Given the description of an element on the screen output the (x, y) to click on. 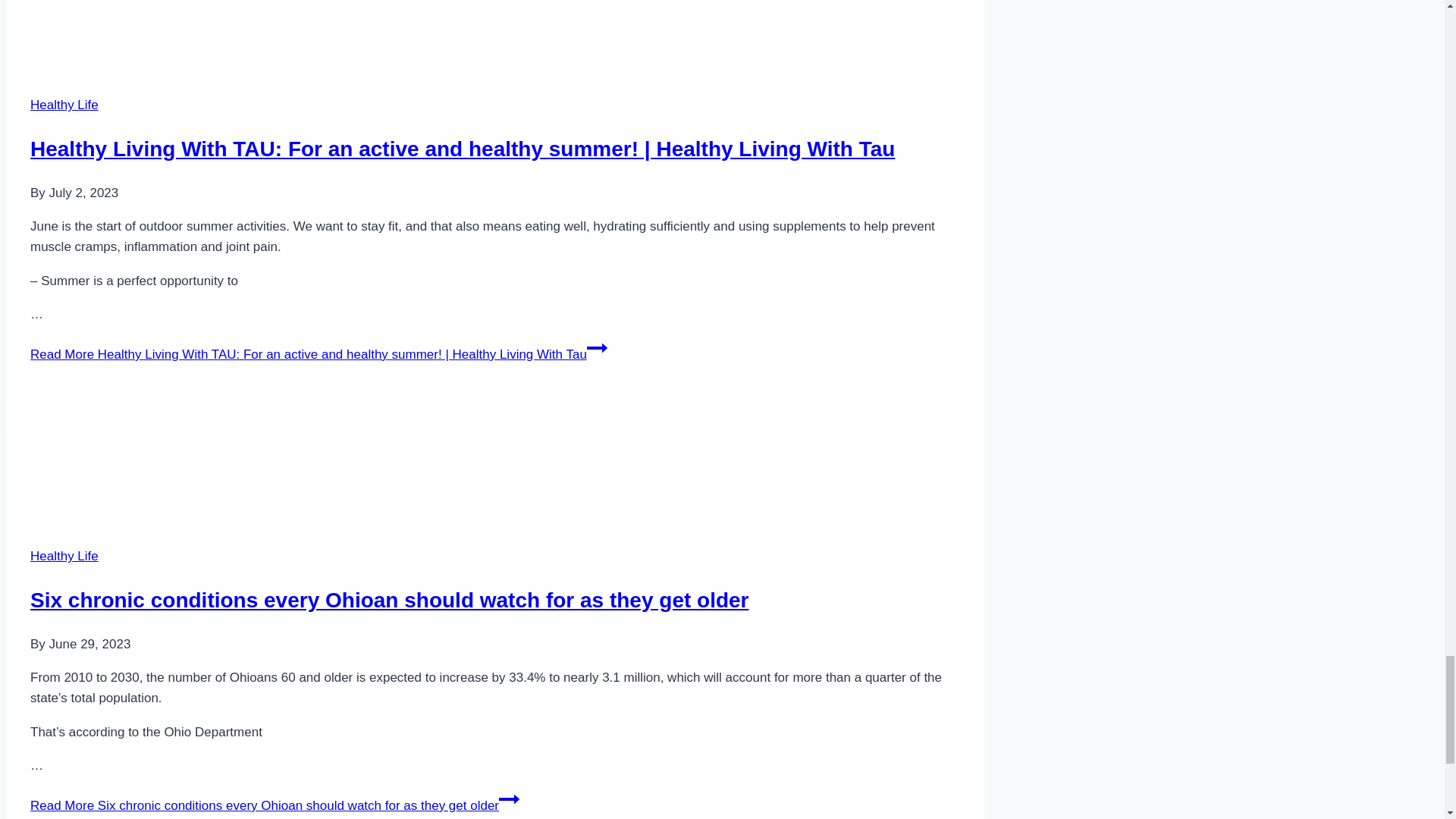
Continue (509, 798)
Continue (596, 347)
